Given the description of an element on the screen output the (x, y) to click on. 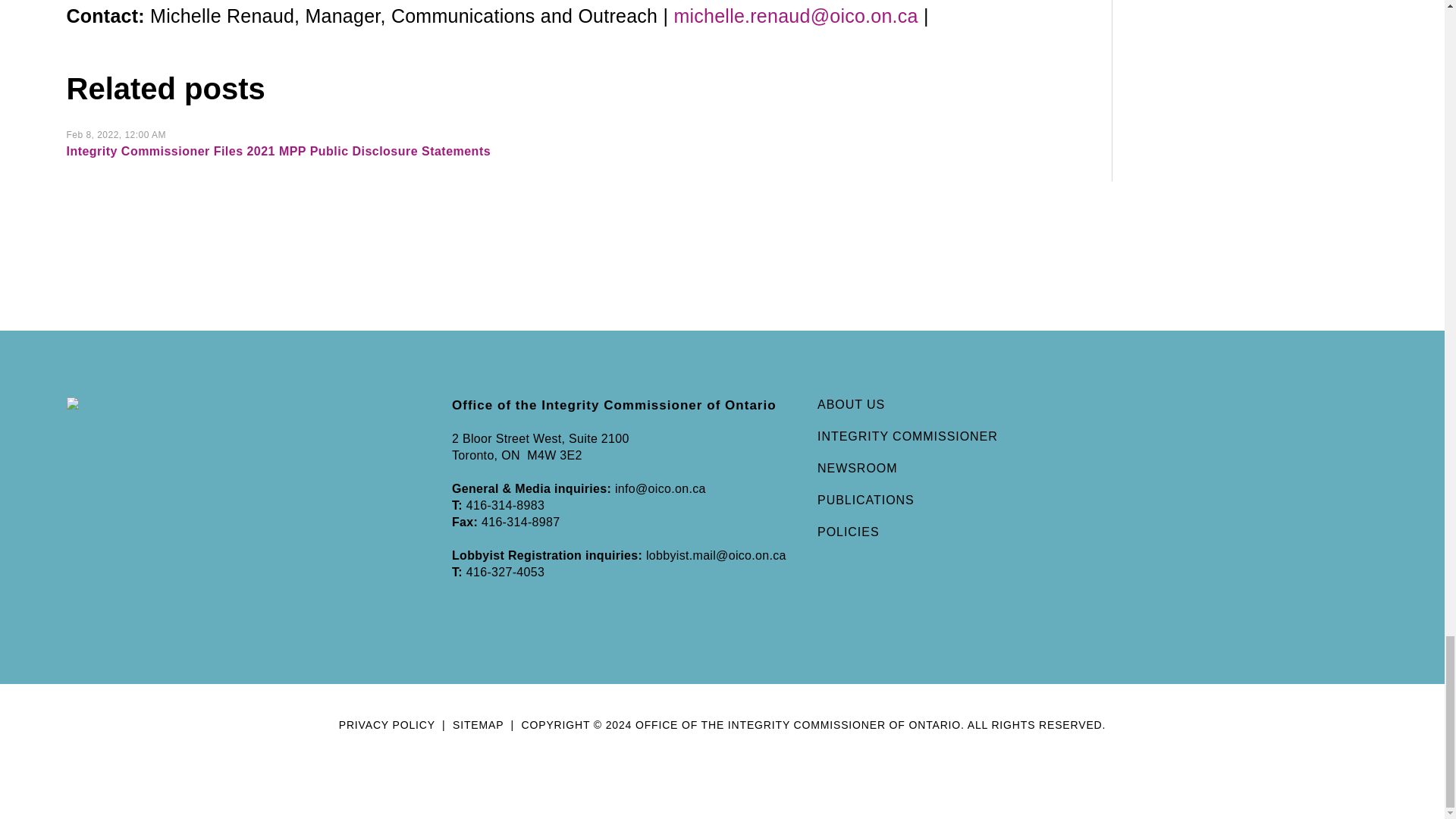
Office of the Integrity Commissioner of Ontario (212, 405)
416-327-4053 (504, 571)
416-314-8987 (520, 521)
416-314-8983 (504, 504)
